Given the description of an element on the screen output the (x, y) to click on. 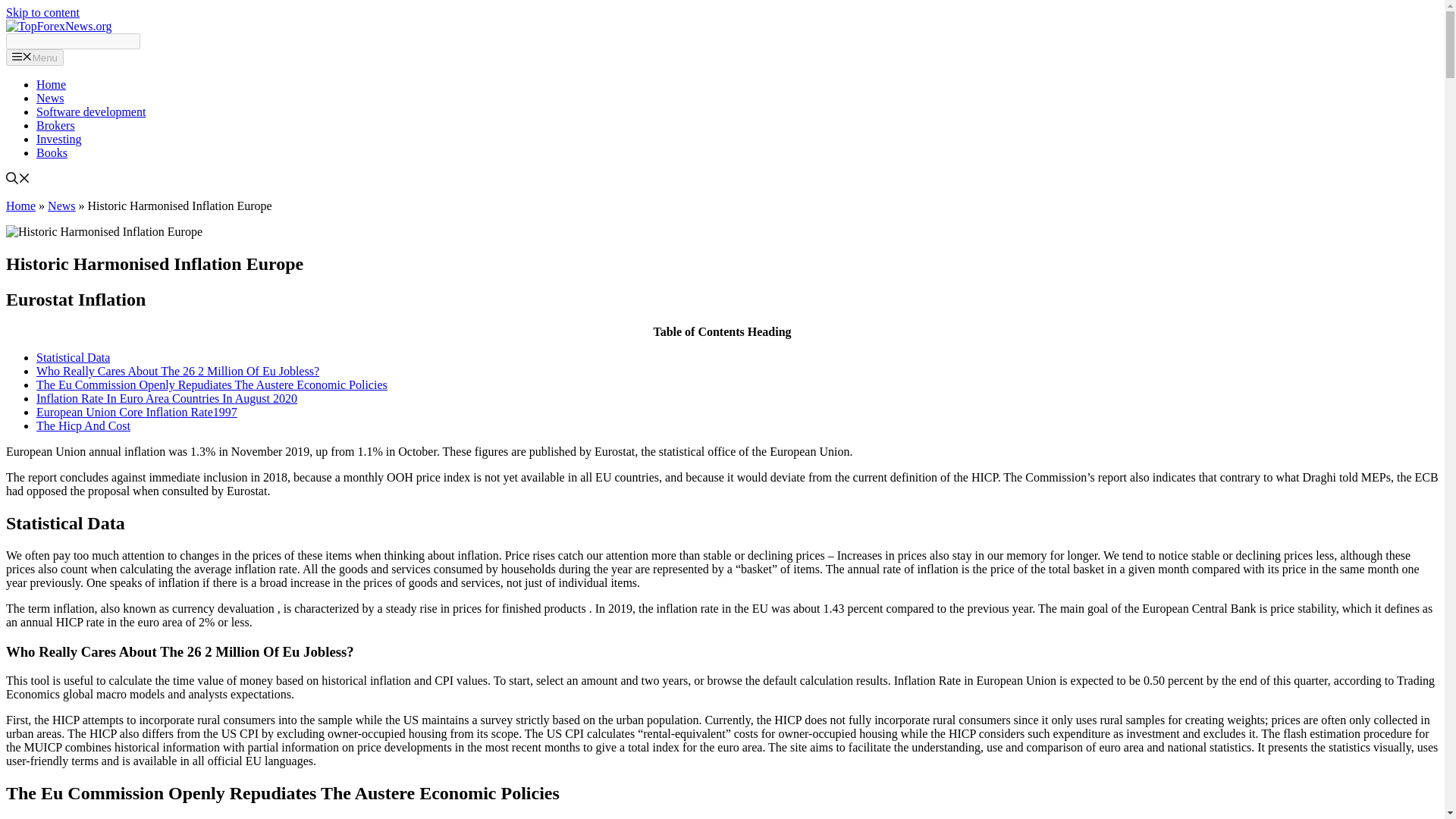
Investing (58, 138)
Statistical Data (73, 357)
Skip to content (42, 11)
Who Really Cares About The 26 2 Million Of Eu Jobless? (177, 370)
Books (51, 152)
Menu (34, 57)
European Union Core Inflation Rate1997 (136, 411)
News (50, 97)
Software development (90, 111)
Inflation Rate In Euro Area Countries In August 2020 (166, 398)
